Given the description of an element on the screen output the (x, y) to click on. 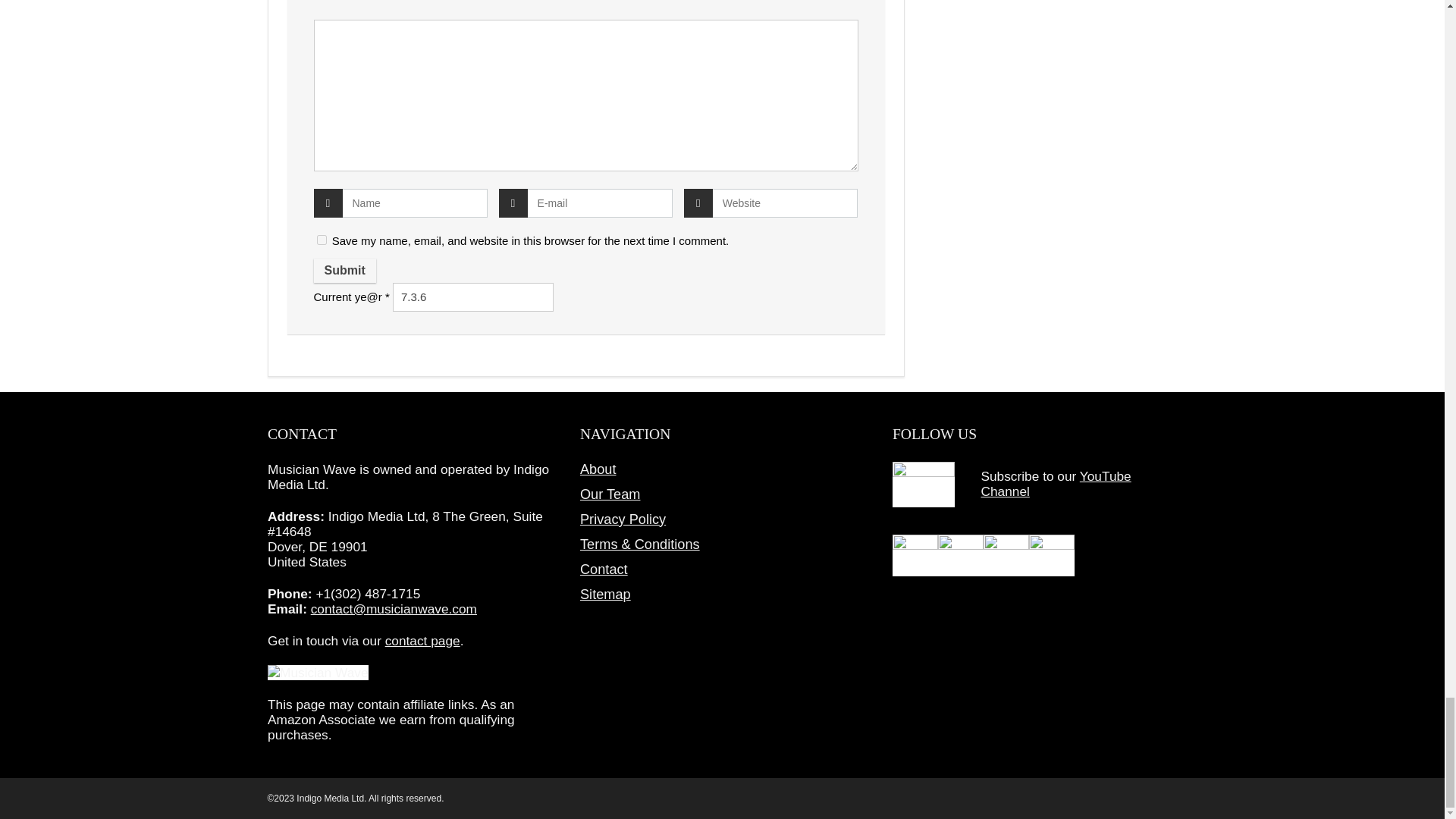
7.3.6 (473, 297)
yes (321, 239)
Submit (344, 270)
